Given the description of an element on the screen output the (x, y) to click on. 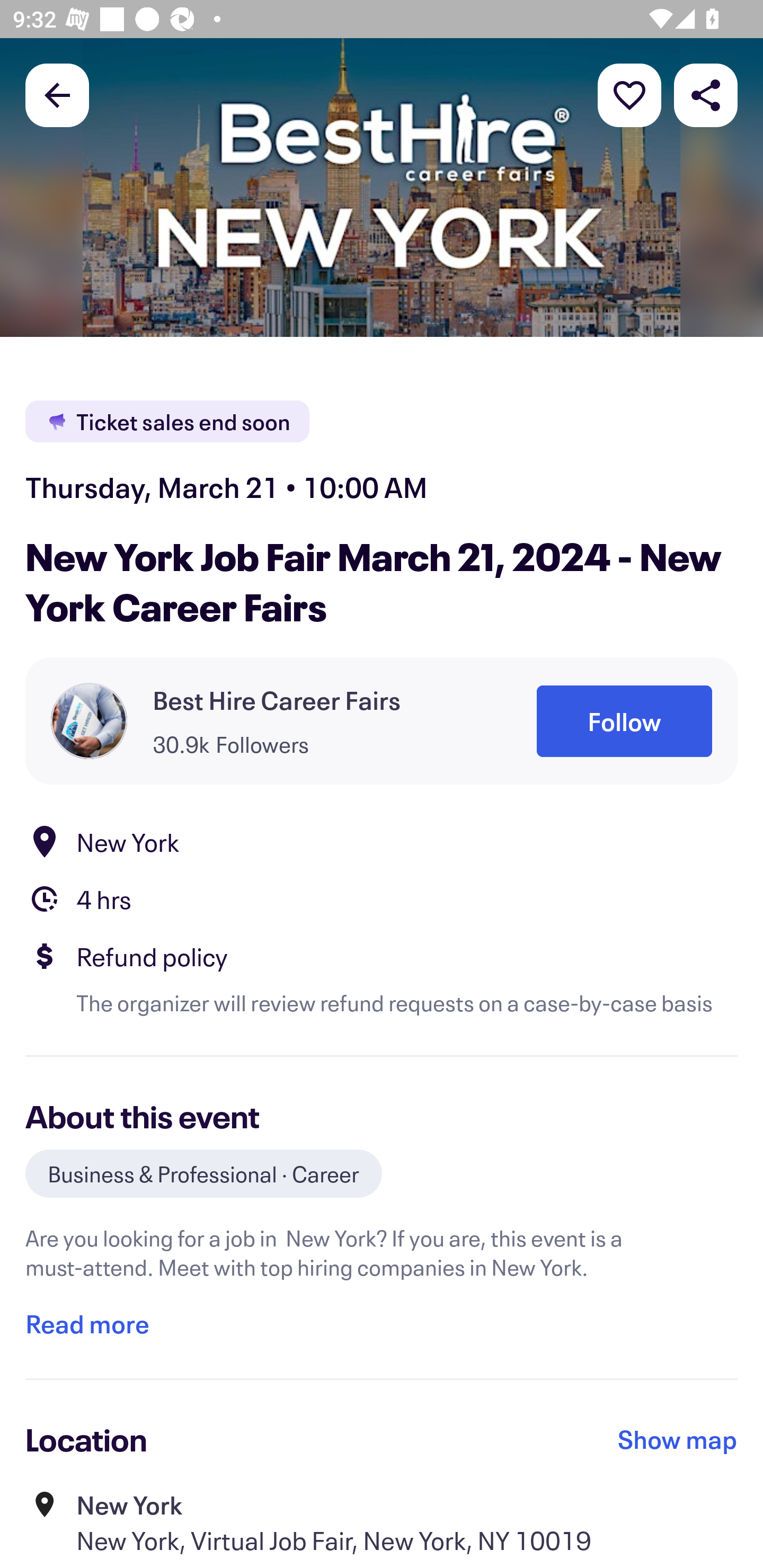
Back (57, 94)
More (629, 94)
Share (705, 94)
Best Hire Career Fairs (276, 699)
Organizer profile picture (89, 720)
Follow (623, 720)
Location New York (381, 840)
Read more (87, 1323)
Show map (677, 1439)
